Given the description of an element on the screen output the (x, y) to click on. 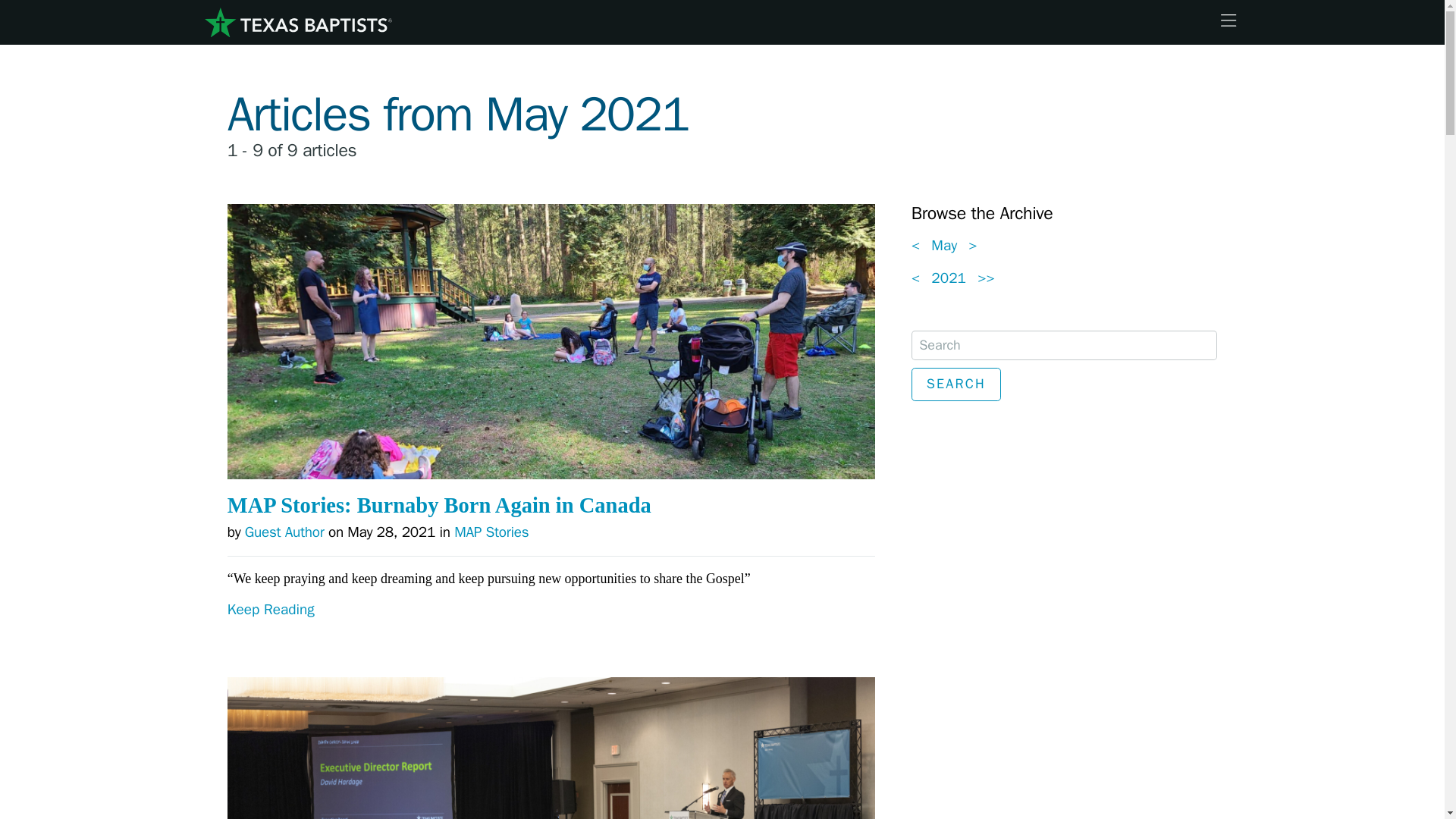
MAP Stories (491, 532)
Keep Reading (551, 638)
Home (297, 22)
May (943, 245)
Guest Author (284, 532)
